Given the description of an element on the screen output the (x, y) to click on. 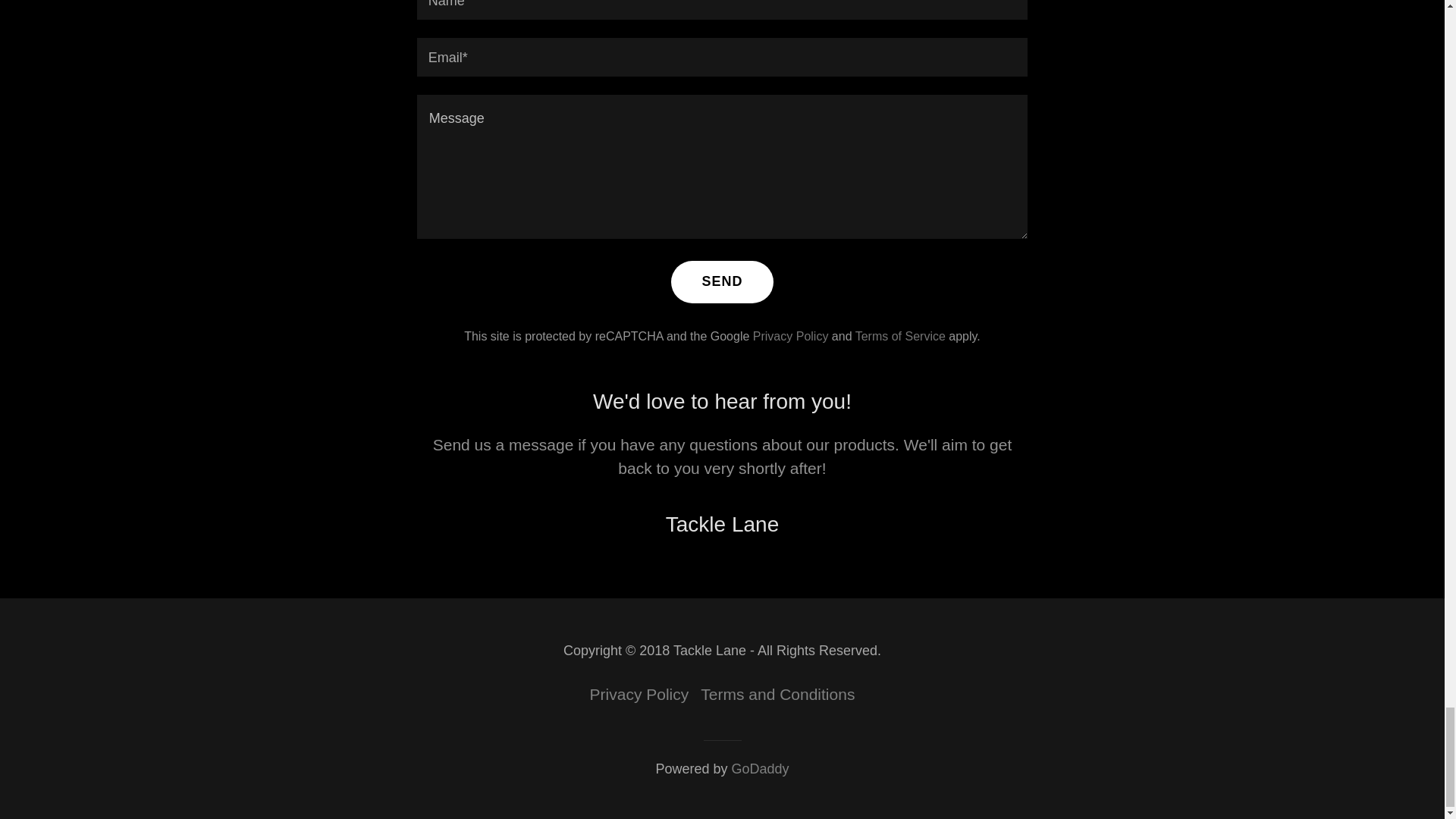
Terms of Service (900, 336)
SEND (722, 282)
Privacy Policy (639, 694)
Privacy Policy (790, 336)
Terms and Conditions (777, 694)
GoDaddy (759, 768)
